Given the description of an element on the screen output the (x, y) to click on. 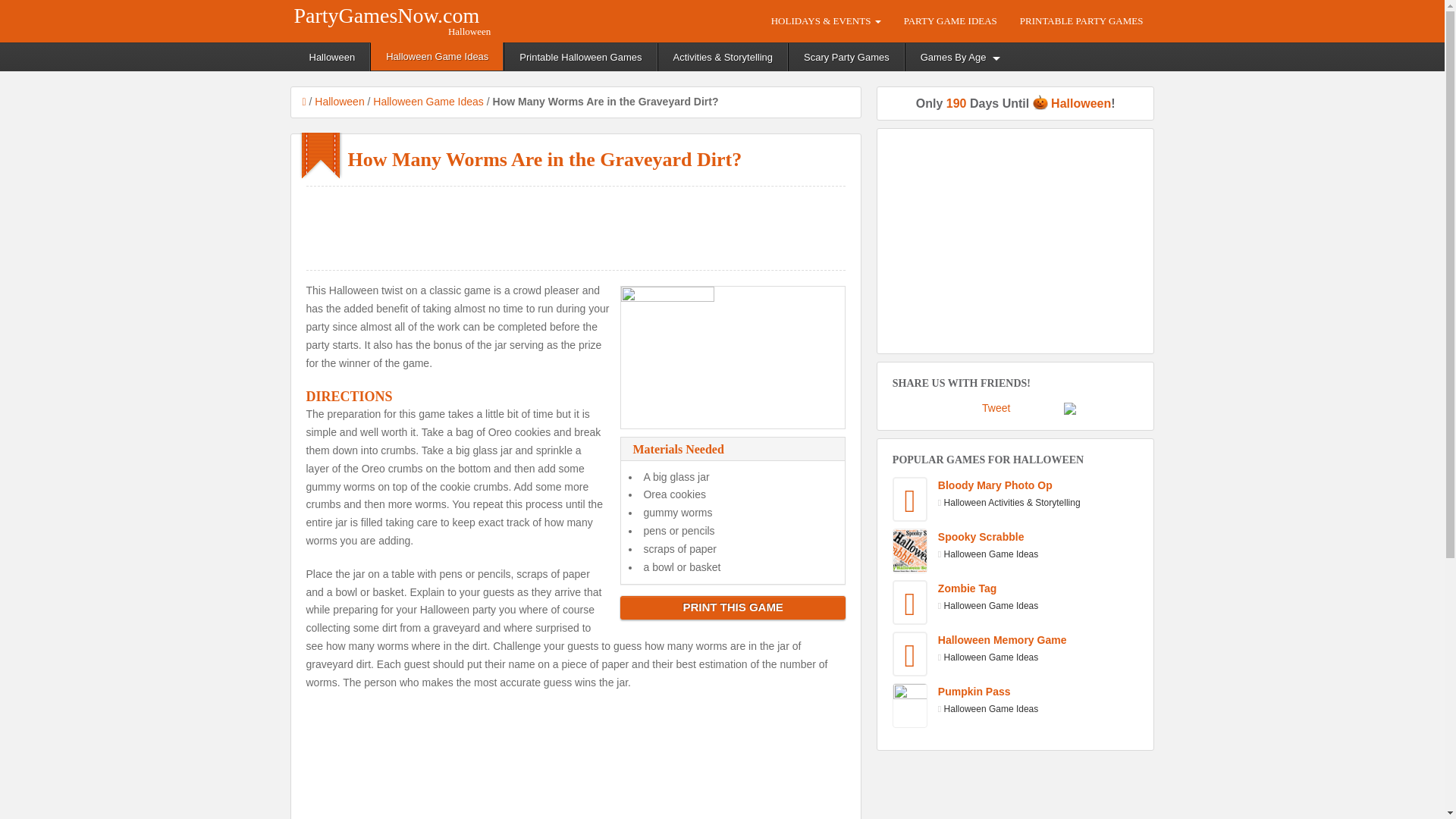
PARTY GAME IDEAS (950, 20)
PRINT THIS GAME (732, 607)
Games By Age (959, 57)
PRINTABLE PARTY GAMES (1081, 20)
Party Game Ideas (950, 20)
PRINT THIS GAME (732, 606)
Tweet (995, 408)
Halloween Game Ideas (437, 56)
Halloween (339, 101)
Halloween (332, 57)
Halloween Game Ideas (427, 101)
Printable Halloween Games (580, 57)
Scary Party Games (847, 57)
PartyGamesNow.com (386, 12)
PartyGamesNow.com (386, 12)
